Given the description of an element on the screen output the (x, y) to click on. 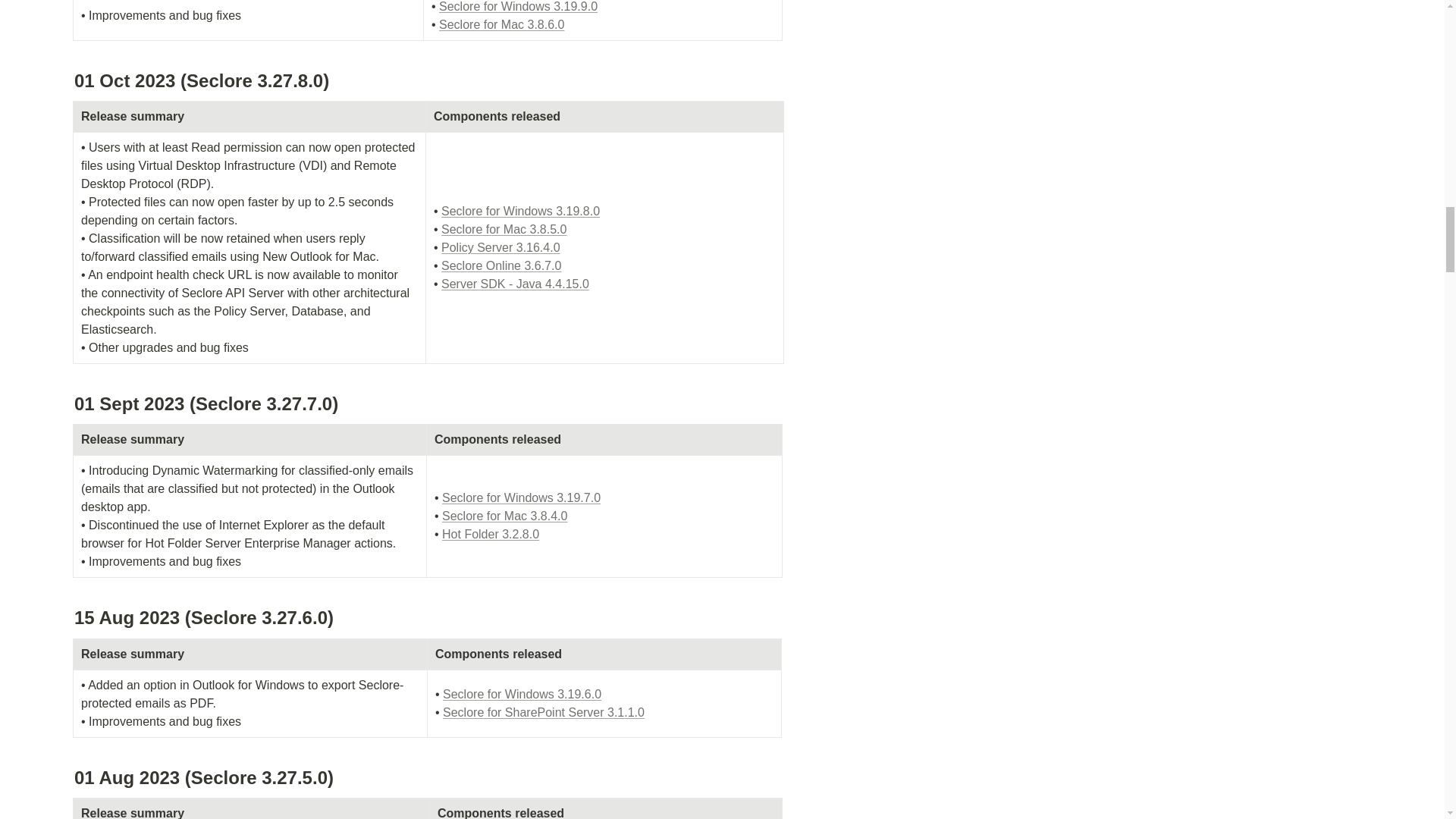
Policy Server 3.16.4.0 (500, 246)
Seclore Online 3.6.7.0 (500, 265)
Seclore for Windows 3.19.8.0 (520, 210)
Seclore for Mac 3.8.5.0 (503, 228)
Seclore for Windows 3.19.9.0 (517, 6)
Seclore for Mac 3.8.6.0 (501, 24)
Server SDK - Java 4.4.15.0 (515, 283)
